Given the description of an element on the screen output the (x, y) to click on. 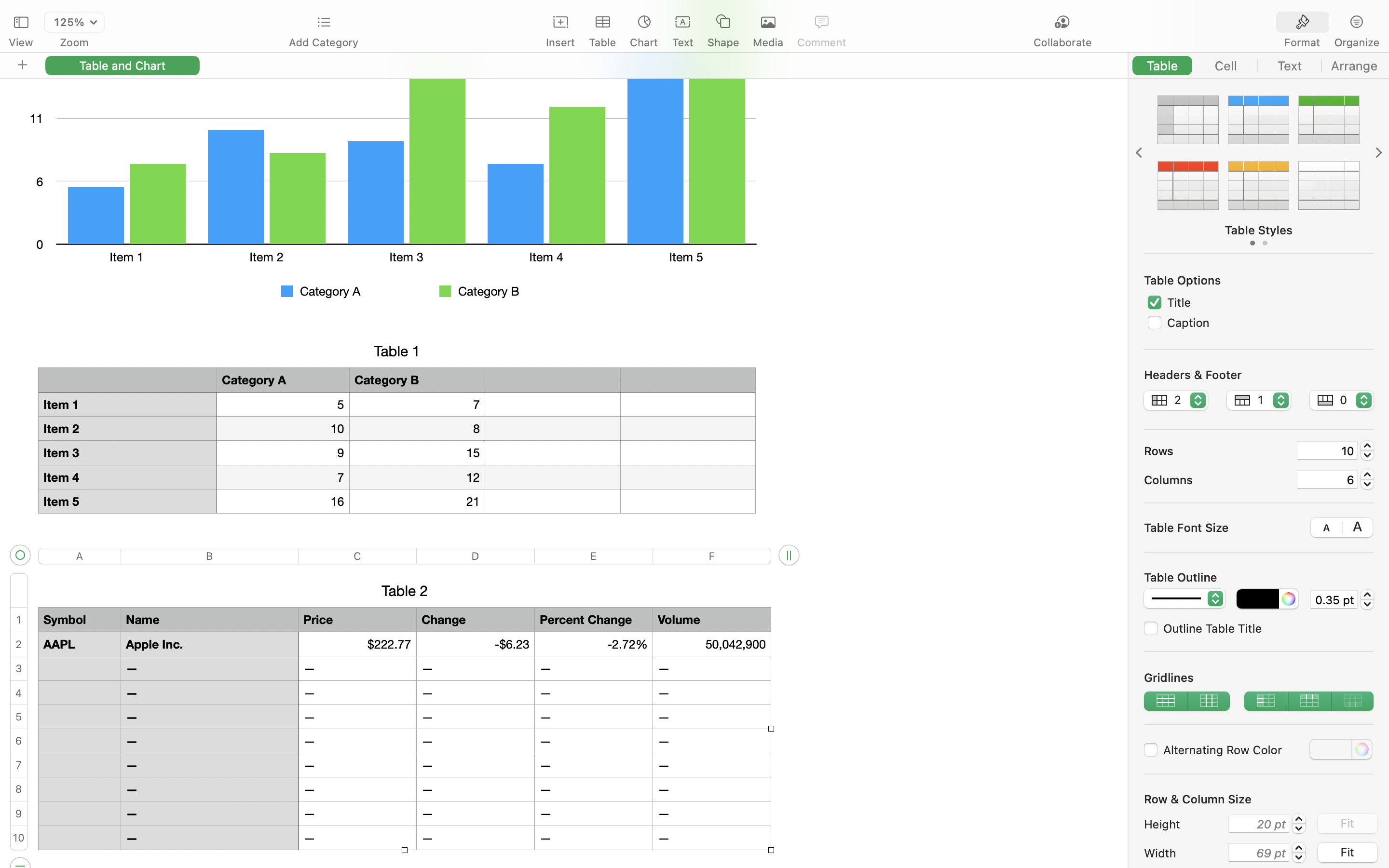
Insert Element type: AXStaticText (560, 42)
Height Element type: AXStaticText (1183, 823)
<AXUIElement 0x17eb34b80> {pid=1420} Element type: AXGroup (1329, 22)
View Element type: AXStaticText (20, 42)
